Given the description of an element on the screen output the (x, y) to click on. 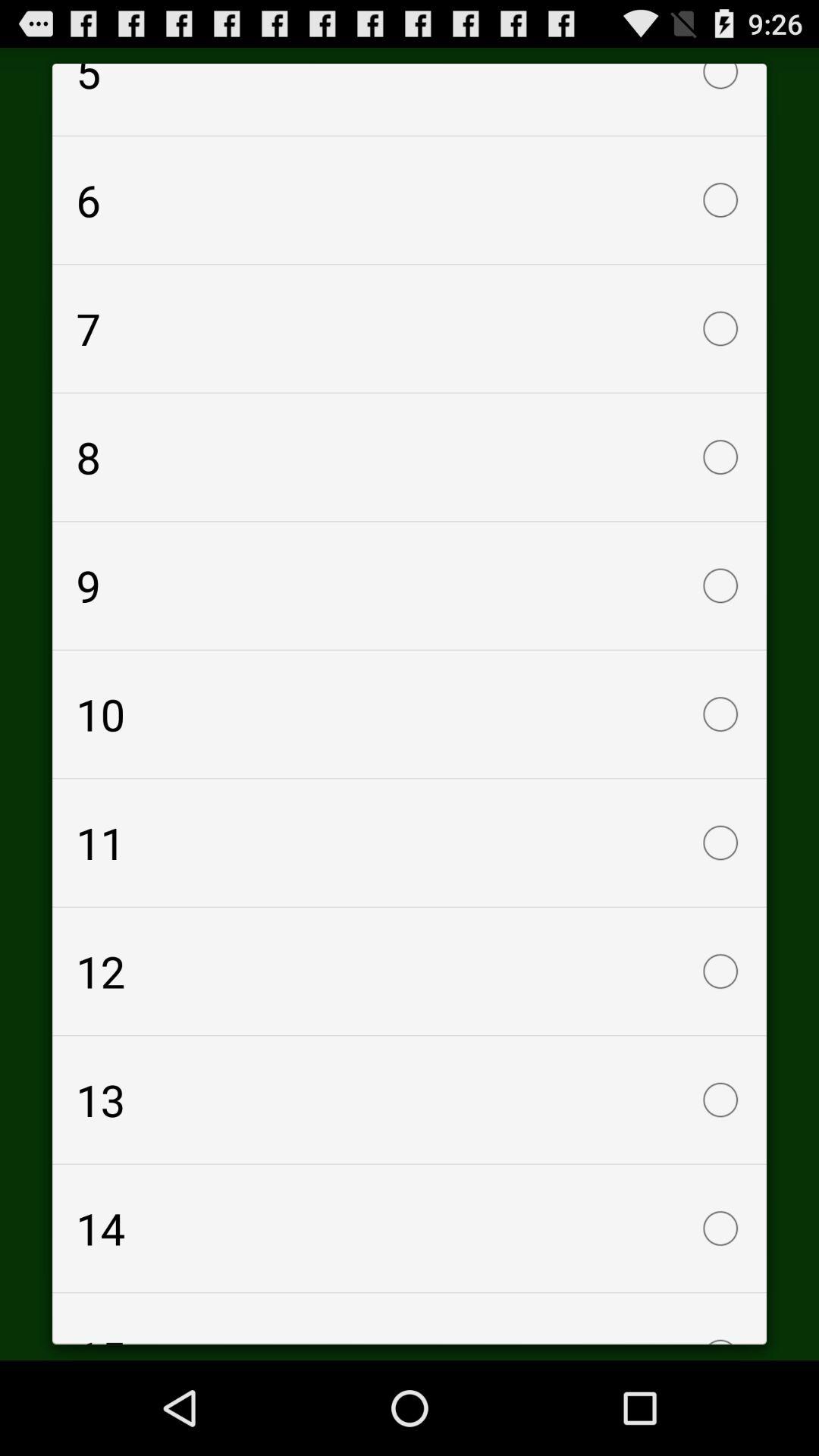
choose 15 icon (409, 1318)
